Given the description of an element on the screen output the (x, y) to click on. 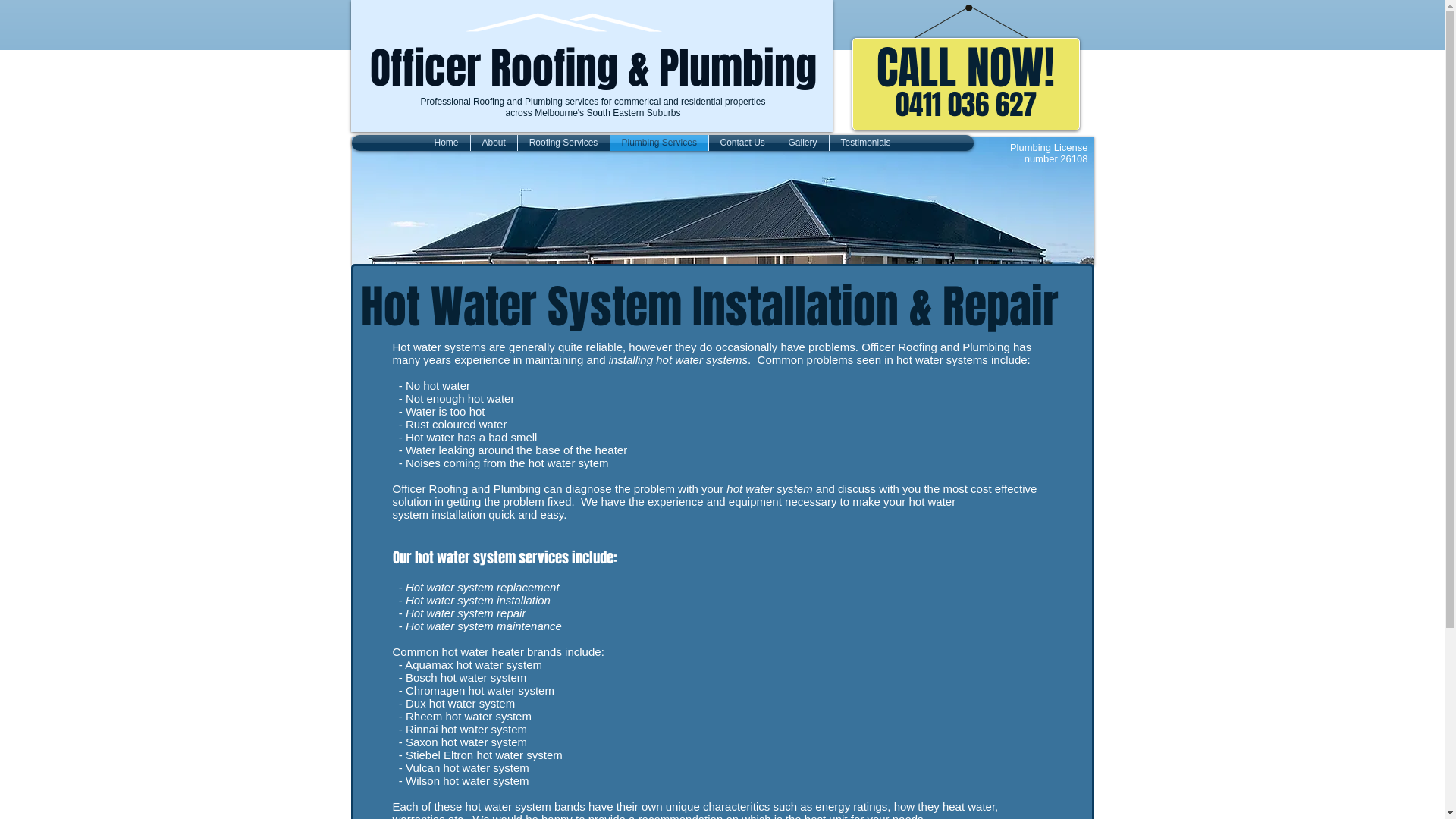
Contact Us Element type: text (741, 142)
Roofing Services Element type: text (562, 142)
Officer Roof Restoration Element type: hover (722, 200)
Testimonials Element type: text (865, 142)
Plumbing Services Element type: text (658, 142)
About Element type: text (493, 142)
across Melbourne's South Eastern Suburbs Element type: text (592, 112)
Officer Roofing & Plumbing Element type: text (593, 68)
Home Element type: text (446, 142)
Officer Roofing and Plumbing Element type: hover (565, 26)
Gallery Element type: text (802, 142)
